Given the description of an element on the screen output the (x, y) to click on. 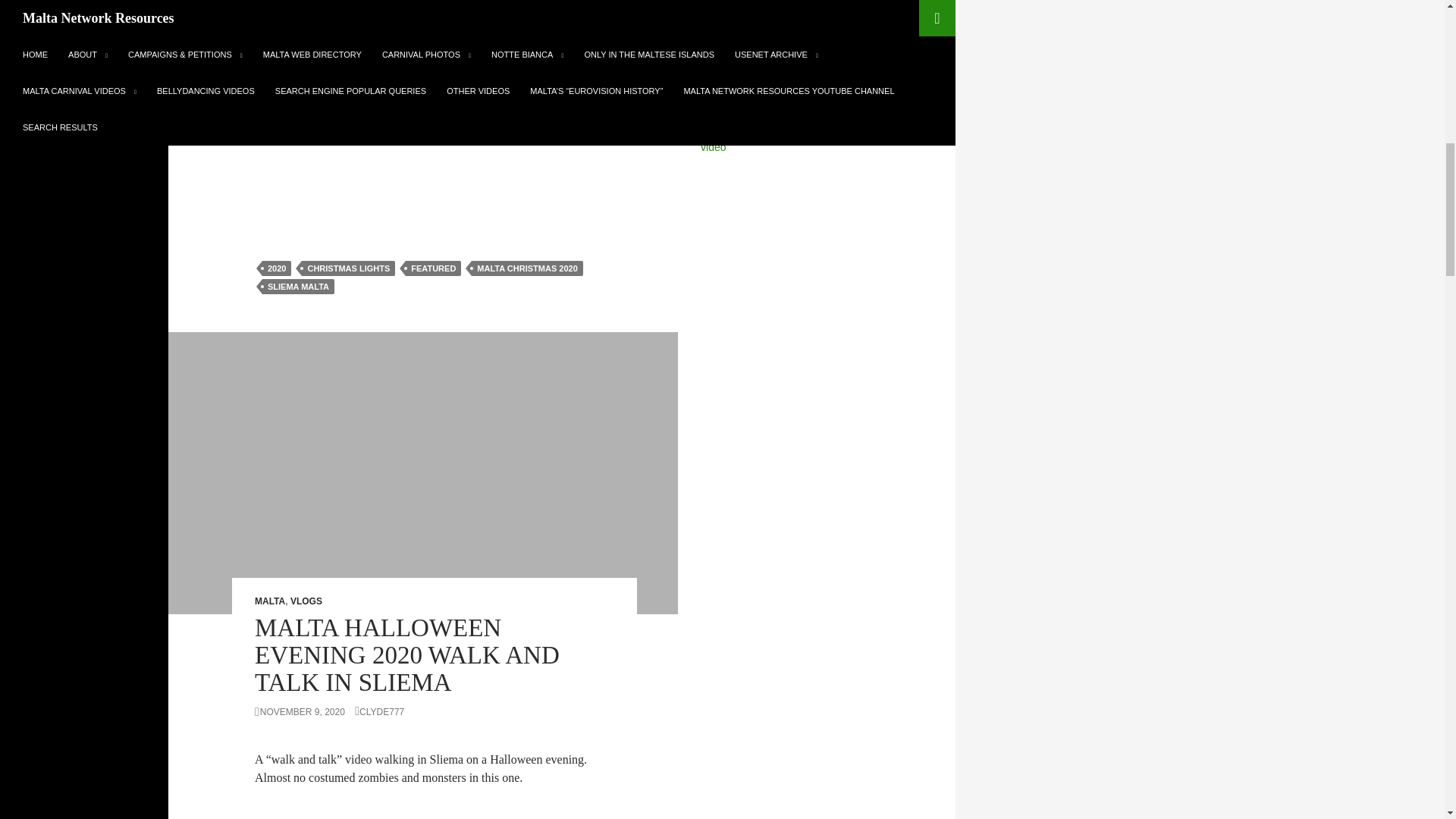
It's been a while. New channel name and latest video (810, 140)
RIP Pawlu l-Pampalun, King of Carnival (793, 119)
